Given the description of an element on the screen output the (x, y) to click on. 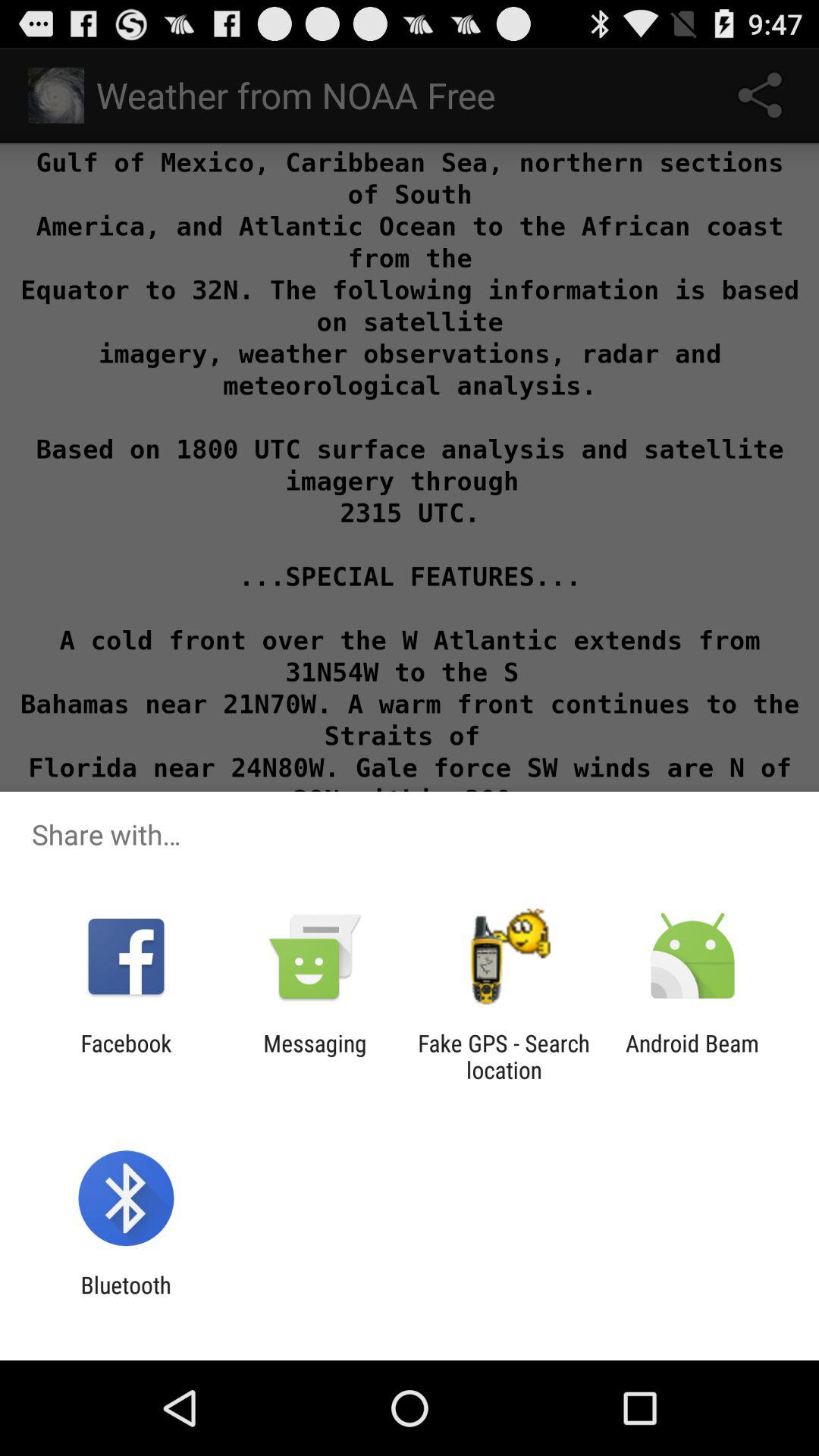
select the facebook (125, 1056)
